Given the description of an element on the screen output the (x, y) to click on. 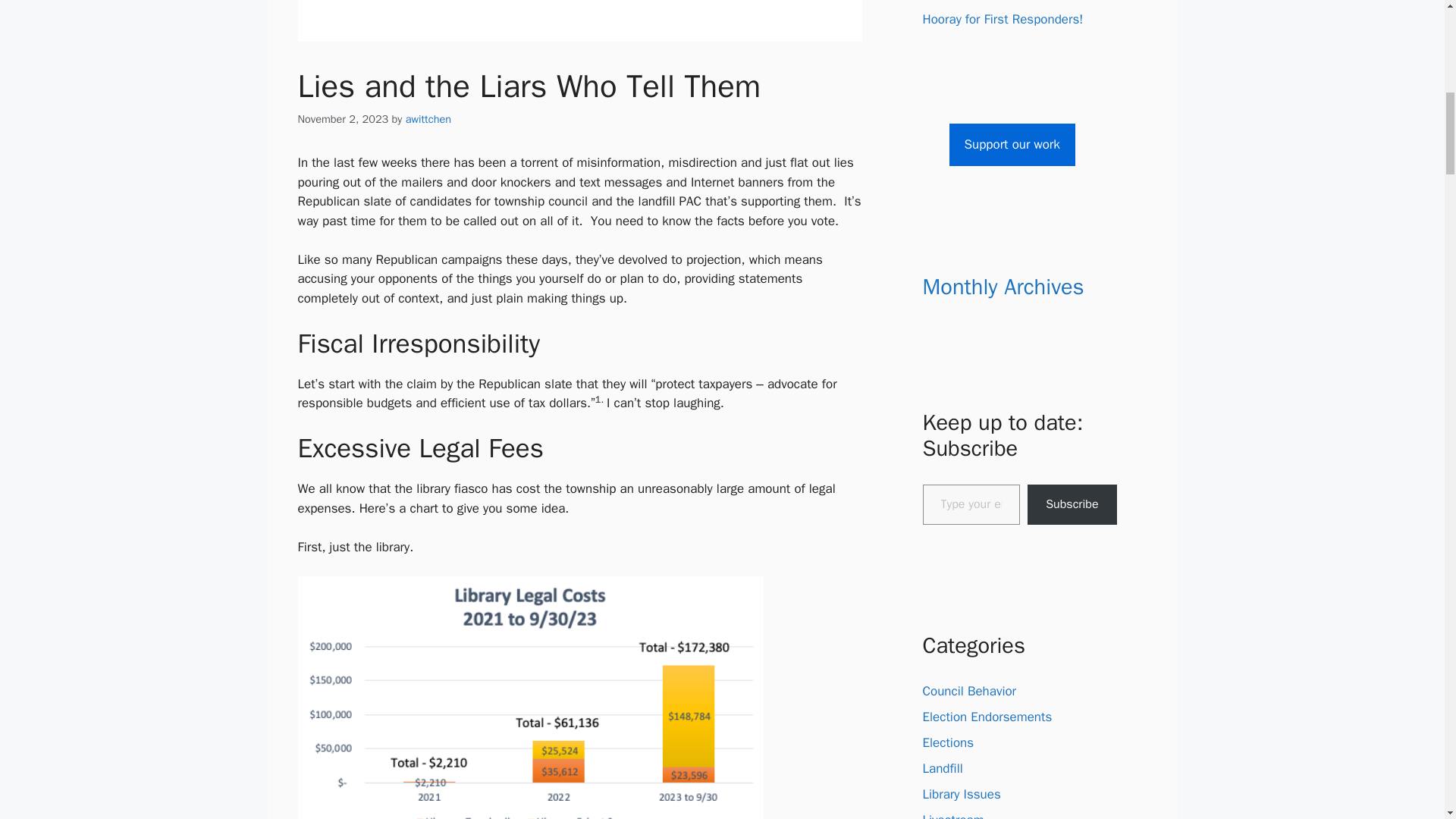
Livestream (952, 815)
Council Behavior (968, 691)
Please fill in this field. (970, 504)
Library Issues (960, 794)
Elections (947, 742)
Hooray for First Responders! (1002, 19)
Support our work (1012, 144)
Subscribe (1071, 504)
Monthly Archives (1002, 286)
View all posts by awittchen (428, 119)
Landfill (941, 768)
Election Endorsements (986, 716)
awittchen (428, 119)
Scroll back to top (1406, 720)
